Given the description of an element on the screen output the (x, y) to click on. 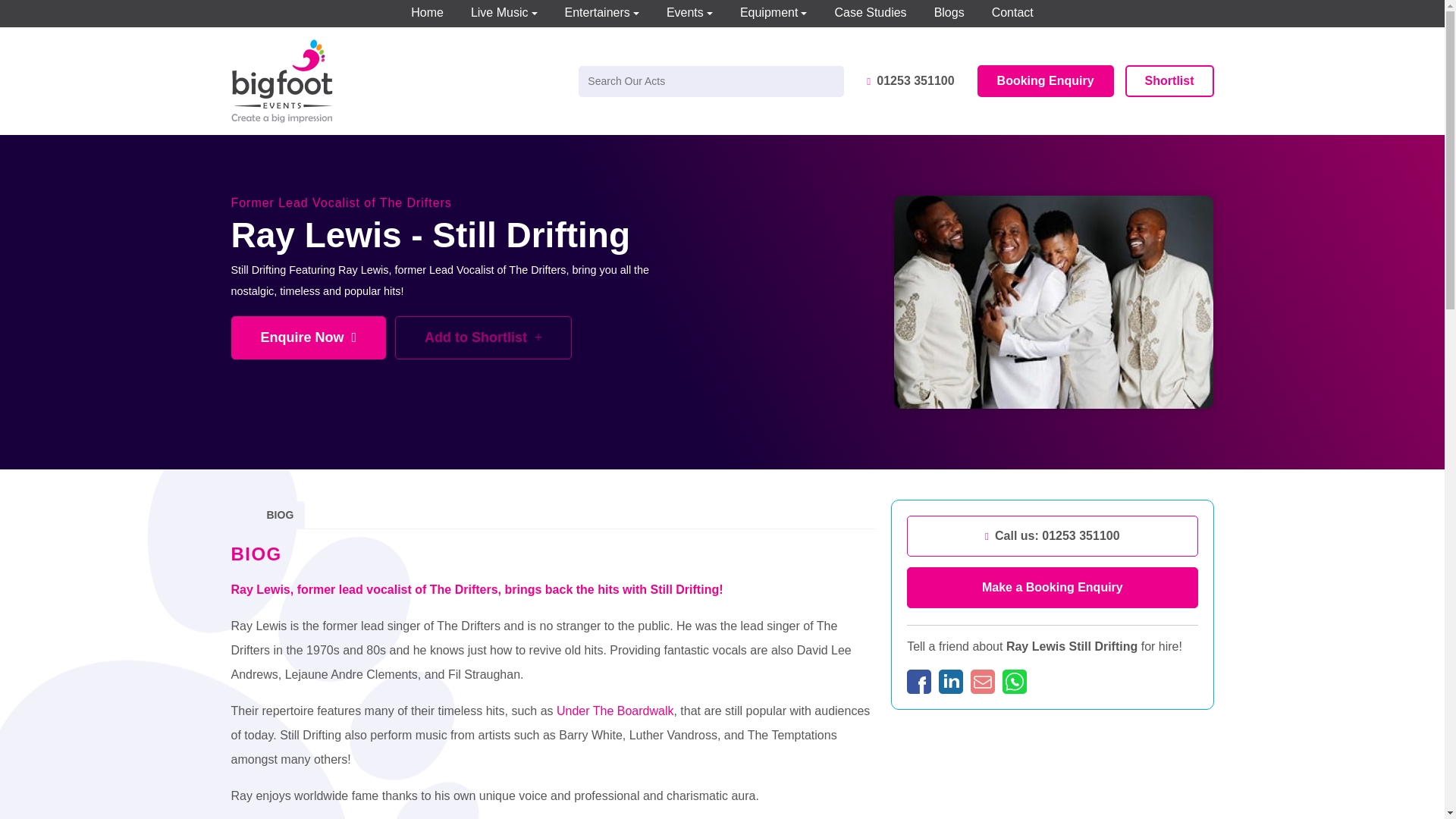
Home (426, 13)
icon-search (831, 81)
Live Music (503, 13)
